Given the description of an element on the screen output the (x, y) to click on. 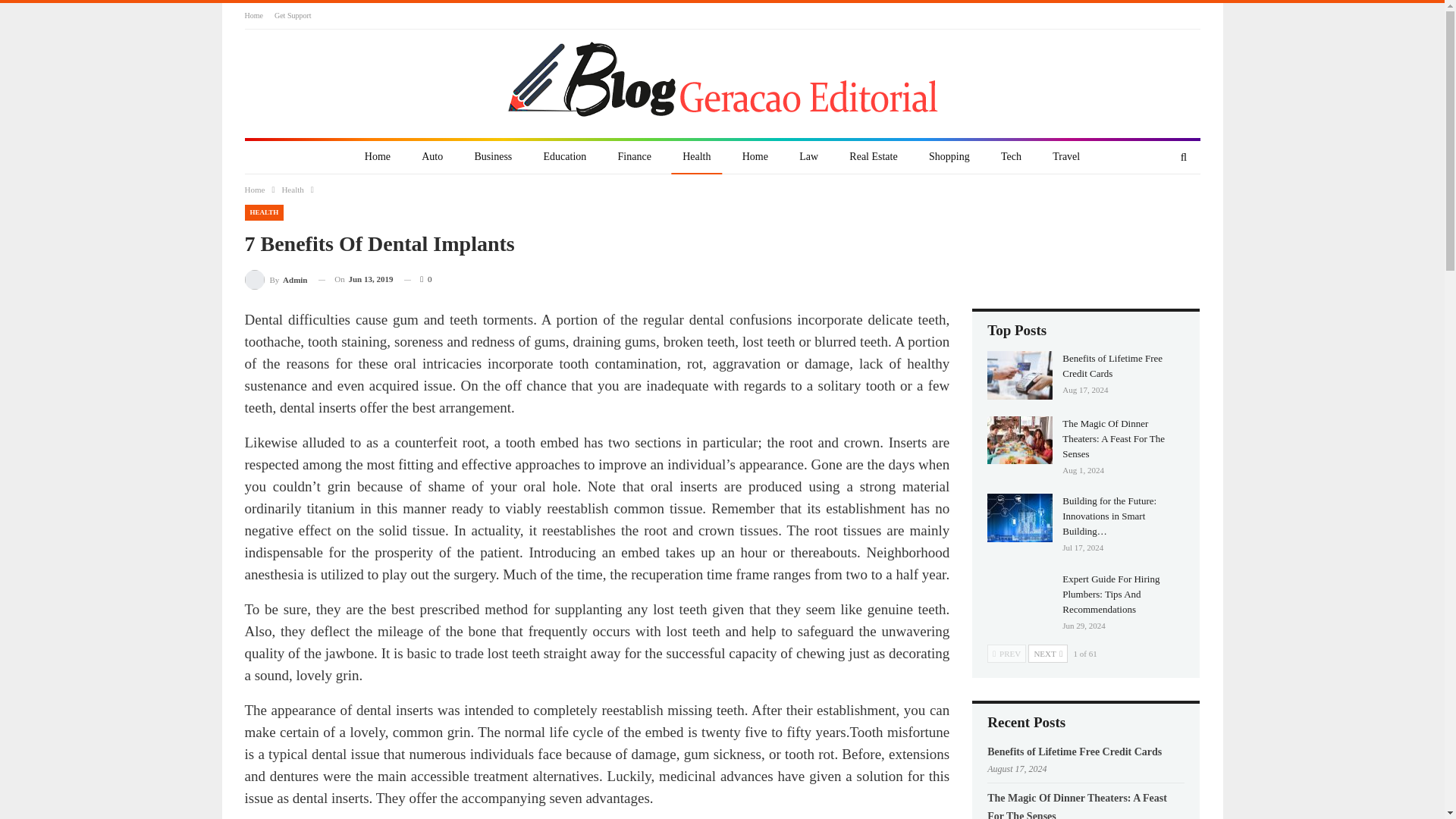
Health (291, 189)
Finance (634, 157)
Home (253, 15)
By Admin (275, 279)
Education (565, 157)
Home (377, 157)
Get Support (293, 15)
Real Estate (873, 157)
Business (492, 157)
Travel (1065, 157)
